Given the description of an element on the screen output the (x, y) to click on. 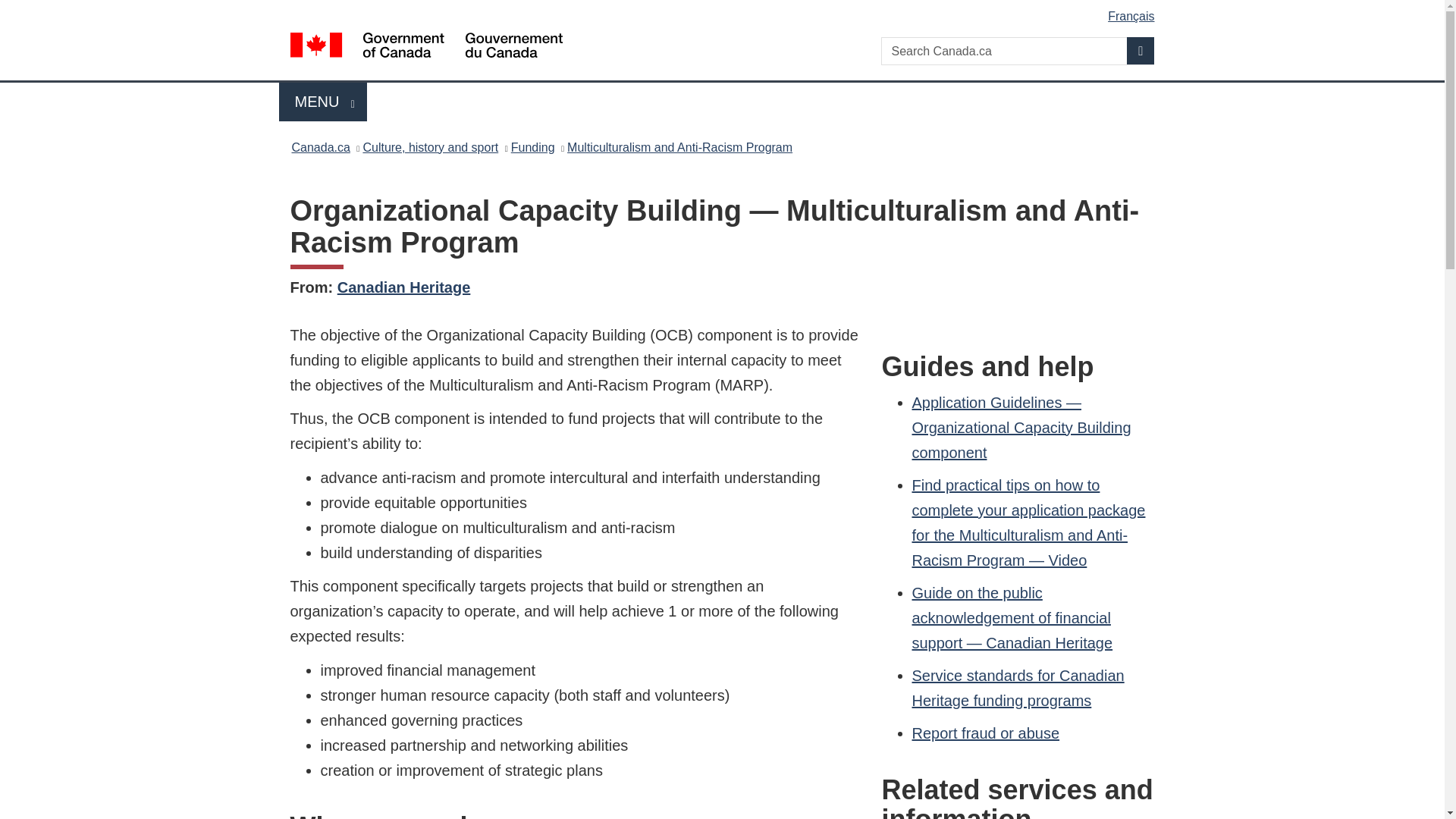
Report fraud or abuse (985, 733)
Skip to main content (725, 11)
Search (1140, 50)
Multiculturalism and Anti-Racism Program (679, 147)
Report fraud or abuse (985, 733)
Culture, history and sport (429, 147)
Funding (322, 101)
Service standards for Canadian Heritage funding programs (532, 147)
Canada.ca (1017, 688)
Canadian Heritage (320, 147)
Service standards for Canadian Heritage funding programs (403, 287)
